Given the description of an element on the screen output the (x, y) to click on. 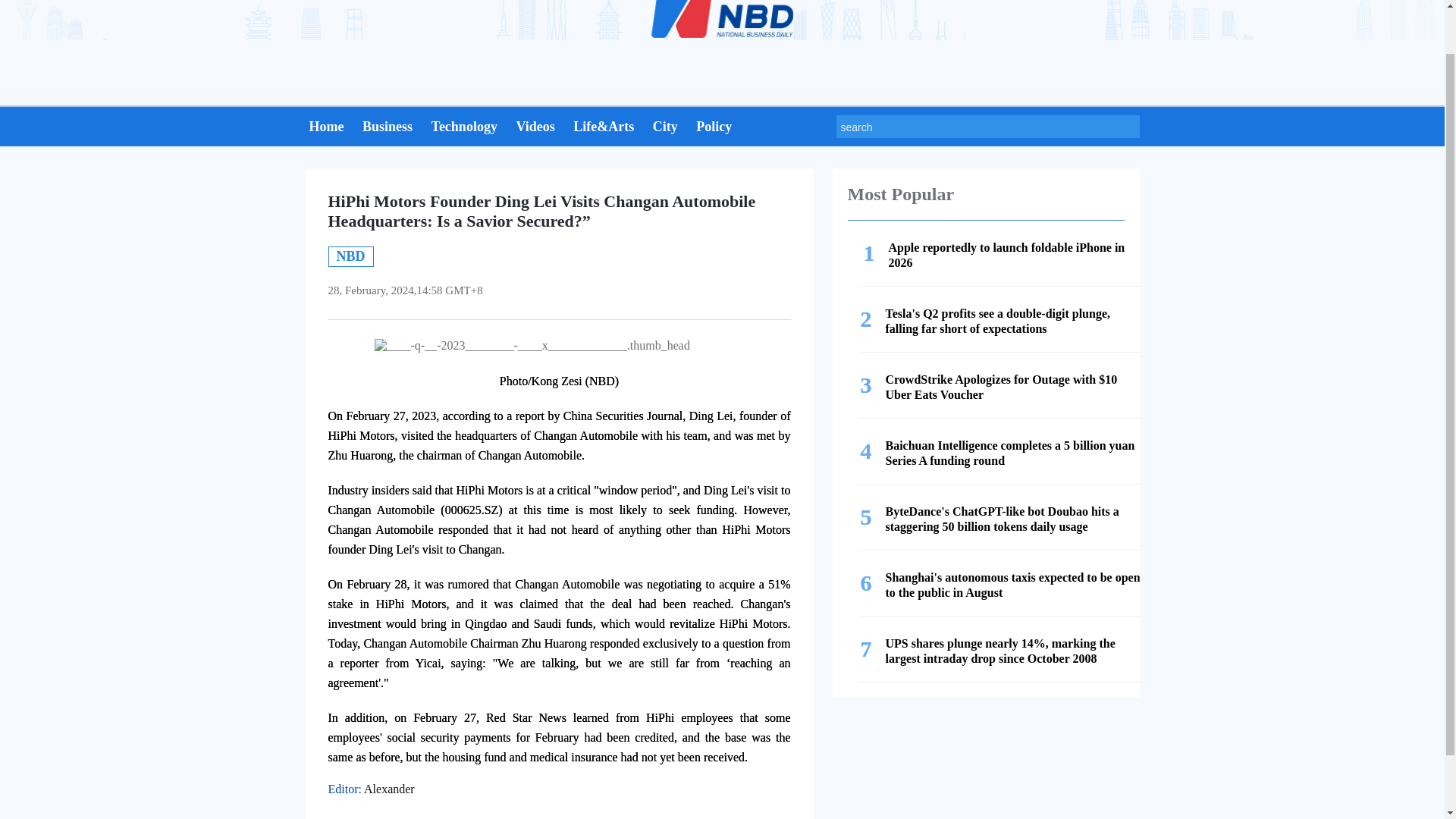
Technology (464, 129)
Home (1003, 255)
Policy (325, 129)
Business (714, 129)
Videos (387, 129)
City (534, 129)
